Given the description of an element on the screen output the (x, y) to click on. 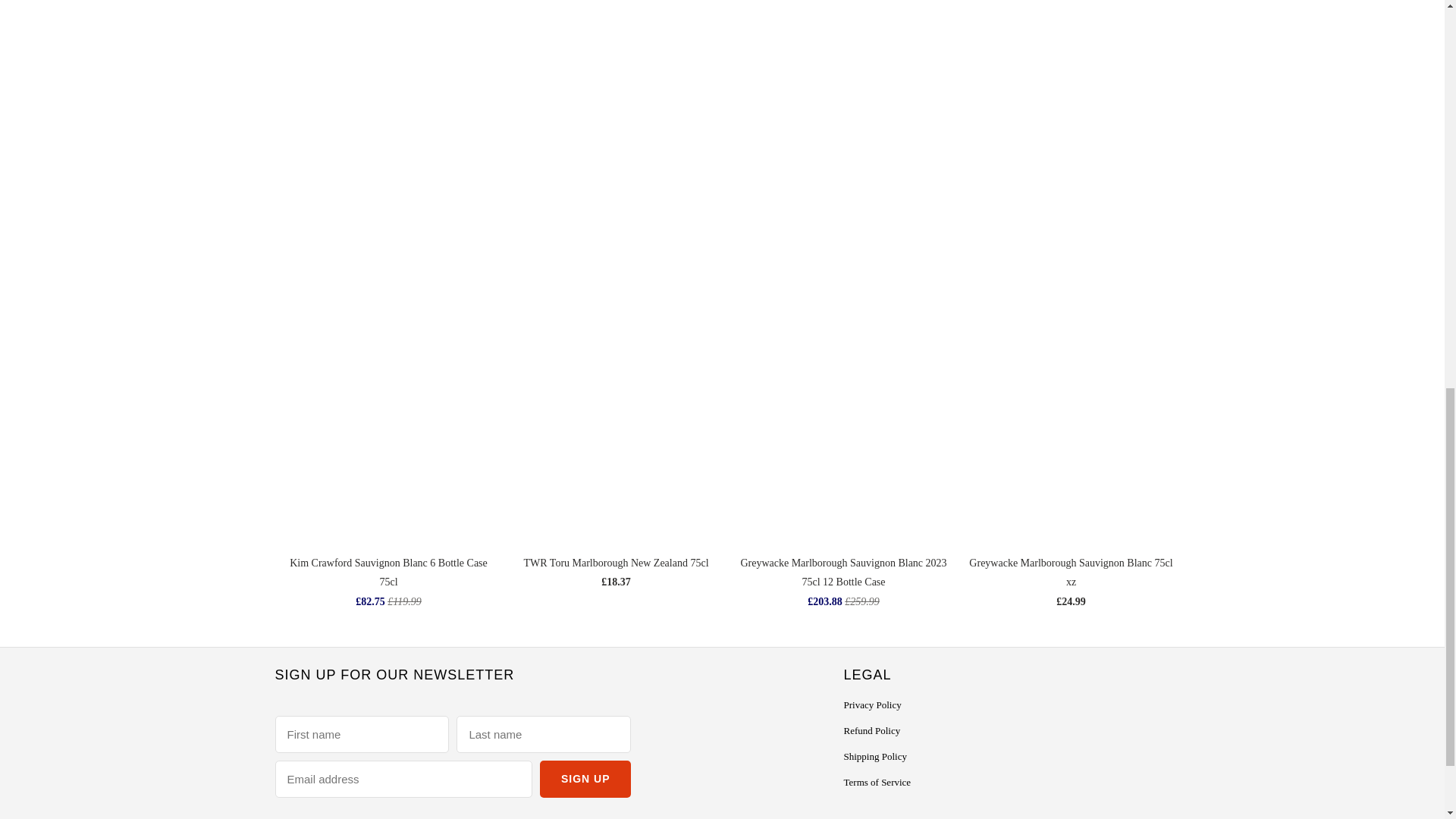
Sign Up (585, 778)
